Given the description of an element on the screen output the (x, y) to click on. 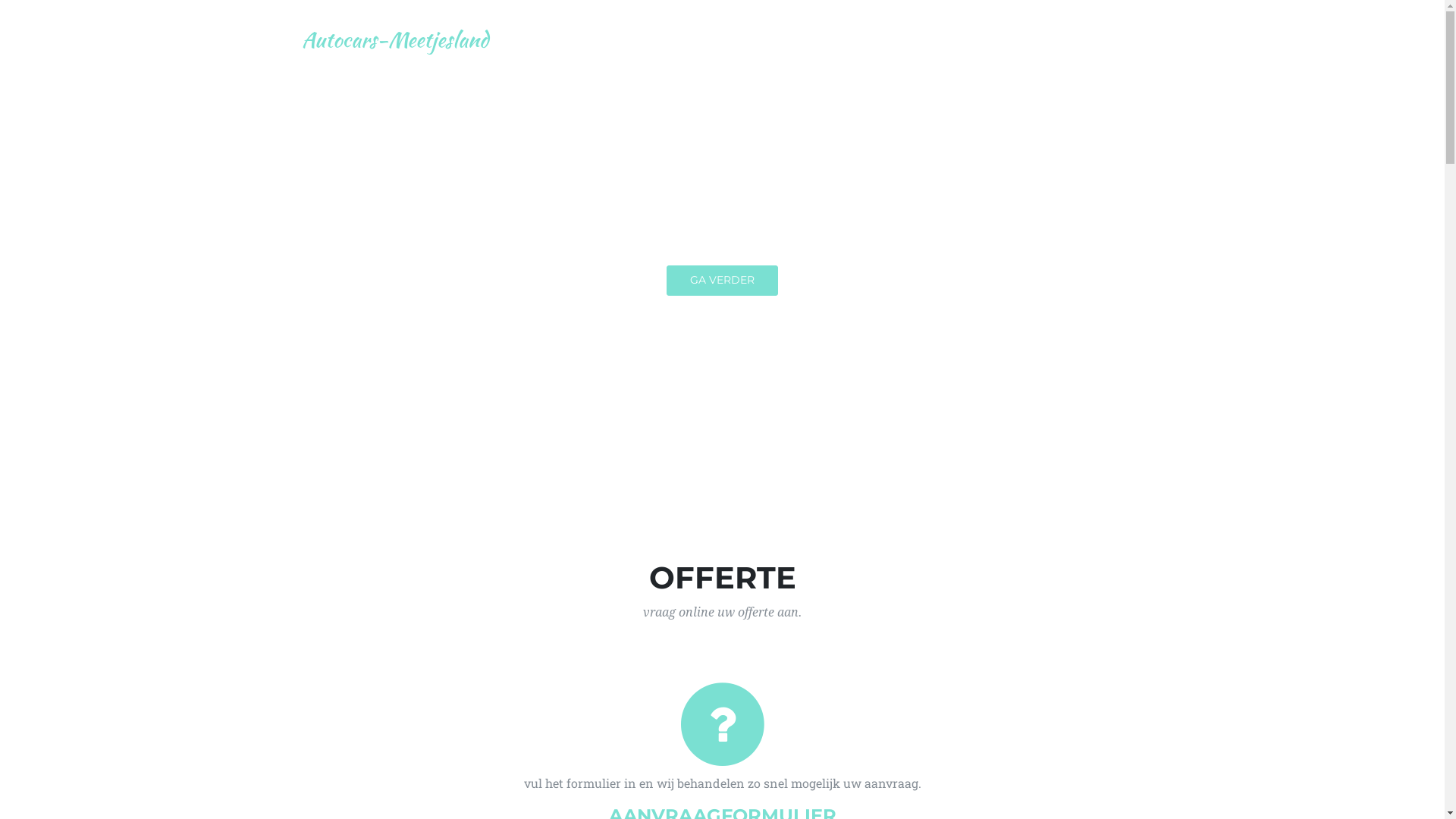
REIZEN Element type: text (1029, 38)
GA VERDER Element type: text (722, 280)
Autocars-Meetjesland Element type: text (394, 39)
CONTACT Element type: text (1103, 38)
OFFERTE Element type: text (955, 38)
